Given the description of an element on the screen output the (x, y) to click on. 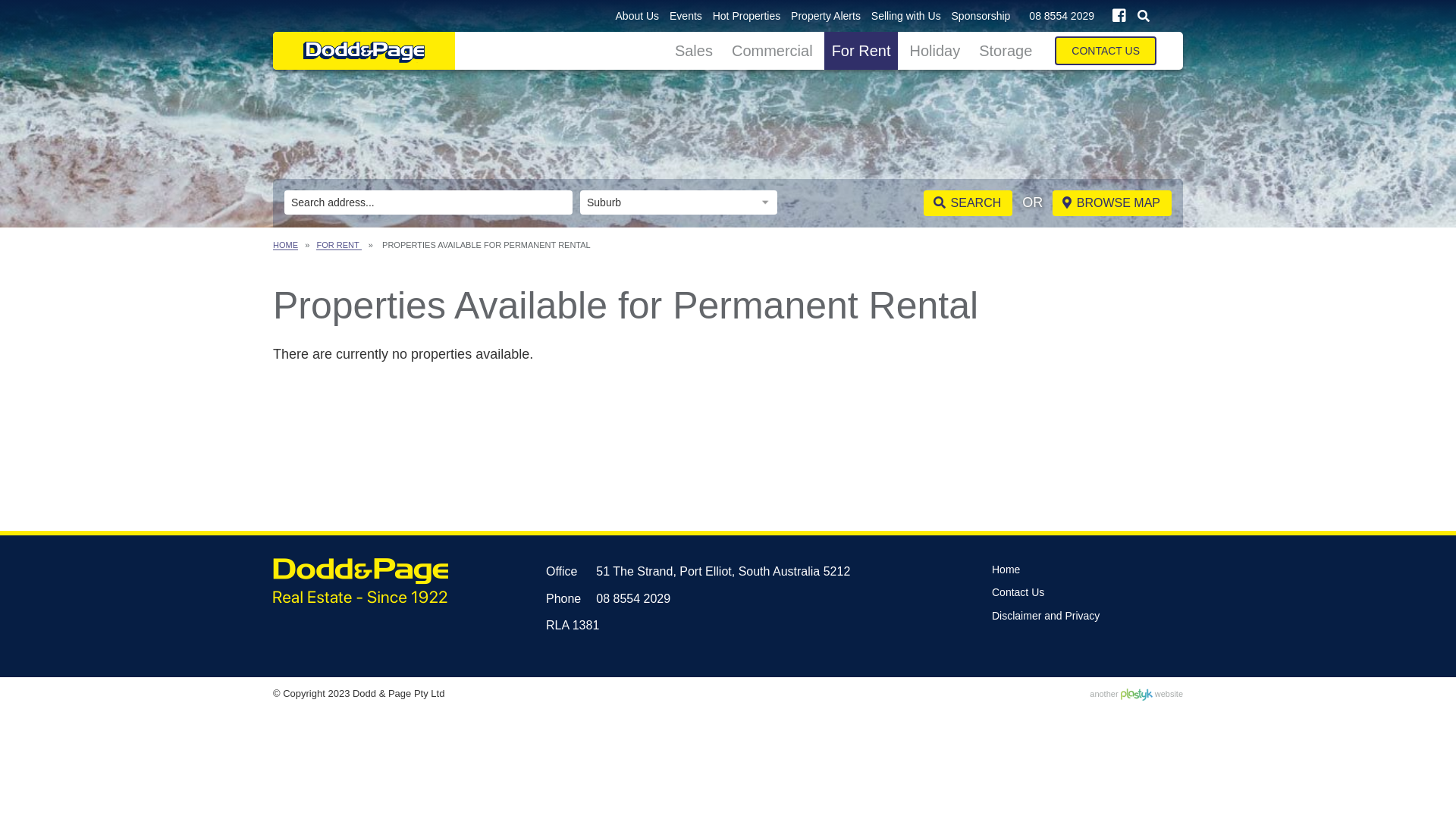
Events Element type: text (685, 15)
Holiday Element type: text (934, 50)
Hot Properties Element type: text (746, 15)
Search Element type: hover (1143, 15)
CONTACT US Element type: text (1105, 50)
Contact Us Element type: text (1017, 592)
About Us Element type: text (637, 15)
Sponsorship Element type: text (980, 15)
SEARCH Element type: text (967, 203)
08 8554 2029 Element type: text (1061, 15)
Sales Element type: text (693, 50)
Property Alerts Element type: text (825, 15)
Home Element type: text (1005, 569)
Selling with Us Element type: text (906, 15)
FOR RENT Element type: text (338, 245)
For Rent Element type: text (861, 50)
BROWSE MAP Element type: text (1111, 203)
Commercial Element type: text (772, 50)
Disclaimer and Privacy Element type: text (1045, 615)
another website Element type: text (1136, 693)
HOME Element type: text (285, 245)
Storage Element type: text (1005, 50)
